Given the description of an element on the screen output the (x, y) to click on. 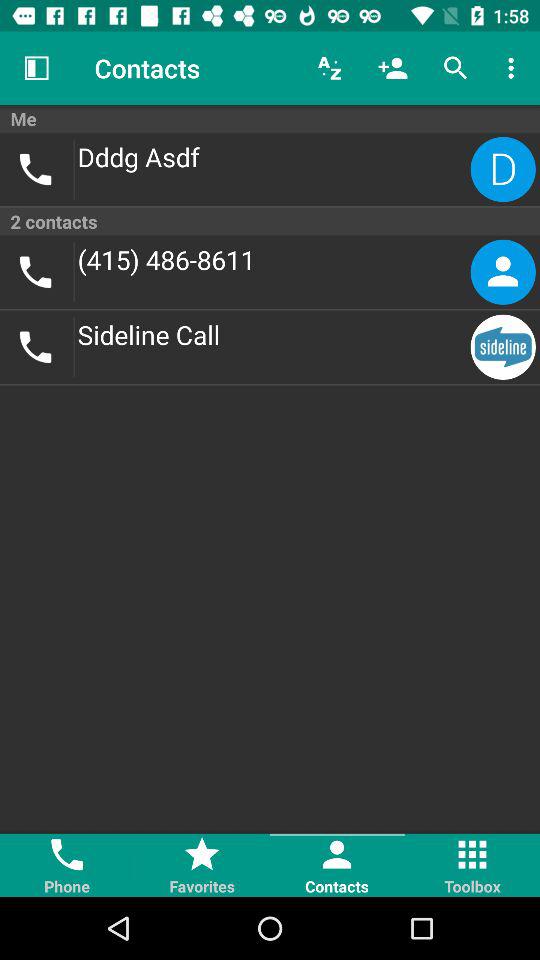
open item above the me item (36, 68)
